Given the description of an element on the screen output the (x, y) to click on. 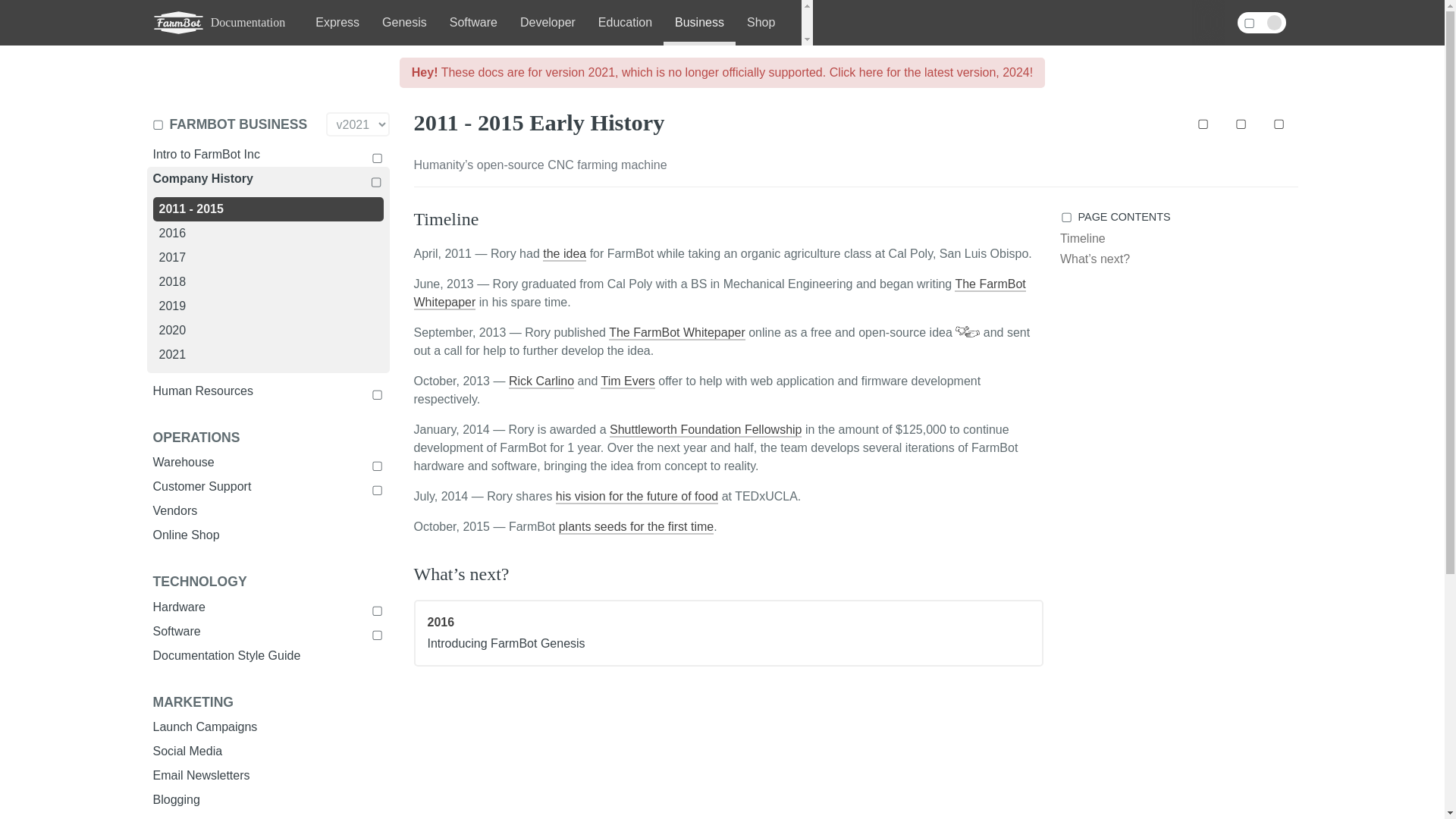
Shop (760, 22)
toggle hub table of contents (235, 124)
2020 (268, 330)
toggle dark mode (1261, 22)
2011 - 2015 (268, 209)
Business (699, 22)
Warehouse (268, 462)
2017 (268, 257)
Intro to FarmBot Inc (268, 154)
2016 (268, 233)
FARMBOT BUSINESS (235, 124)
Human Resources (268, 391)
toggle page table of contents (1176, 216)
Genesis (404, 22)
Developer (547, 22)
